Given the description of an element on the screen output the (x, y) to click on. 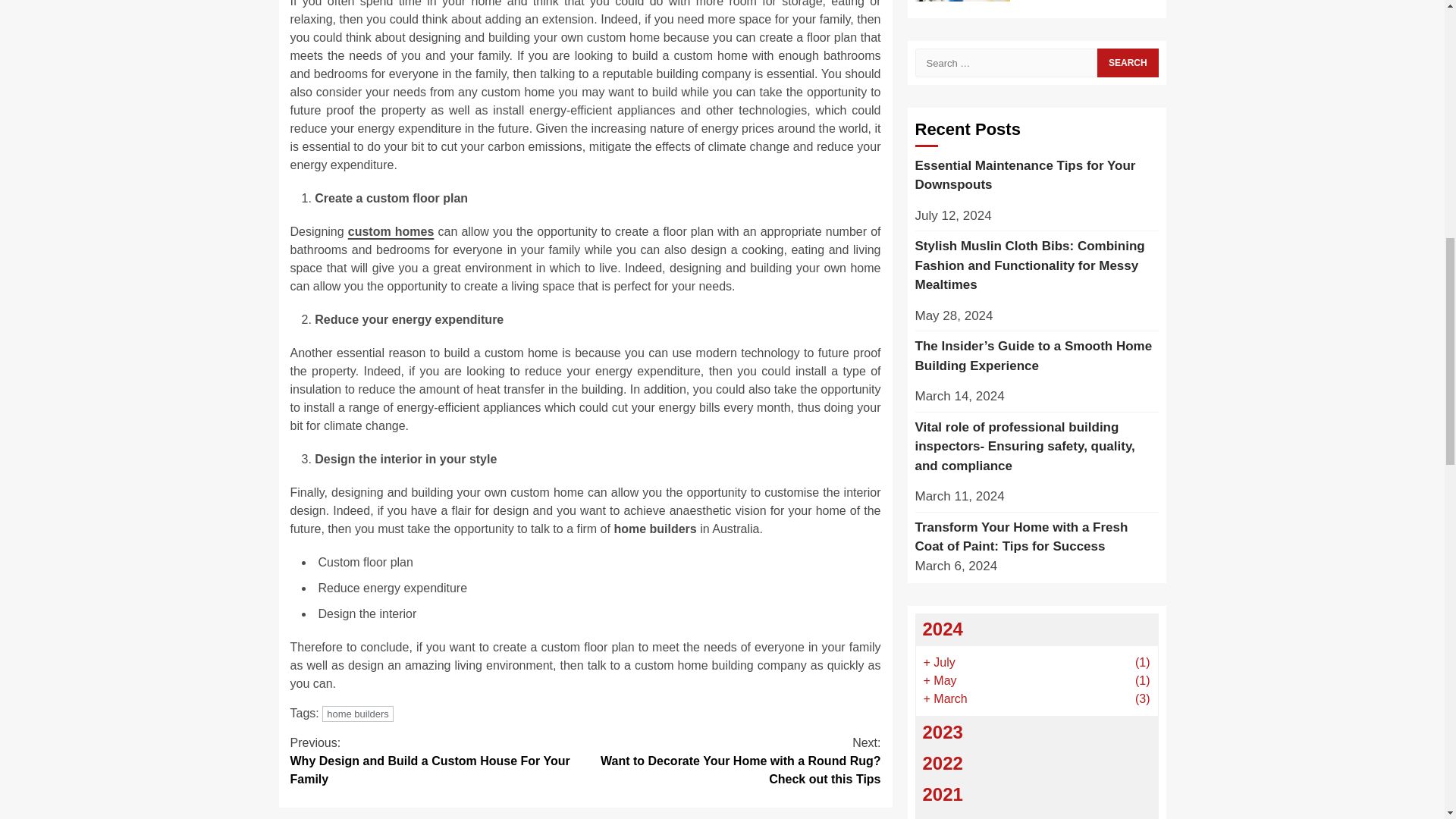
Search (1127, 62)
custom homes (390, 231)
home builders (357, 713)
Search (1127, 62)
